Given the description of an element on the screen output the (x, y) to click on. 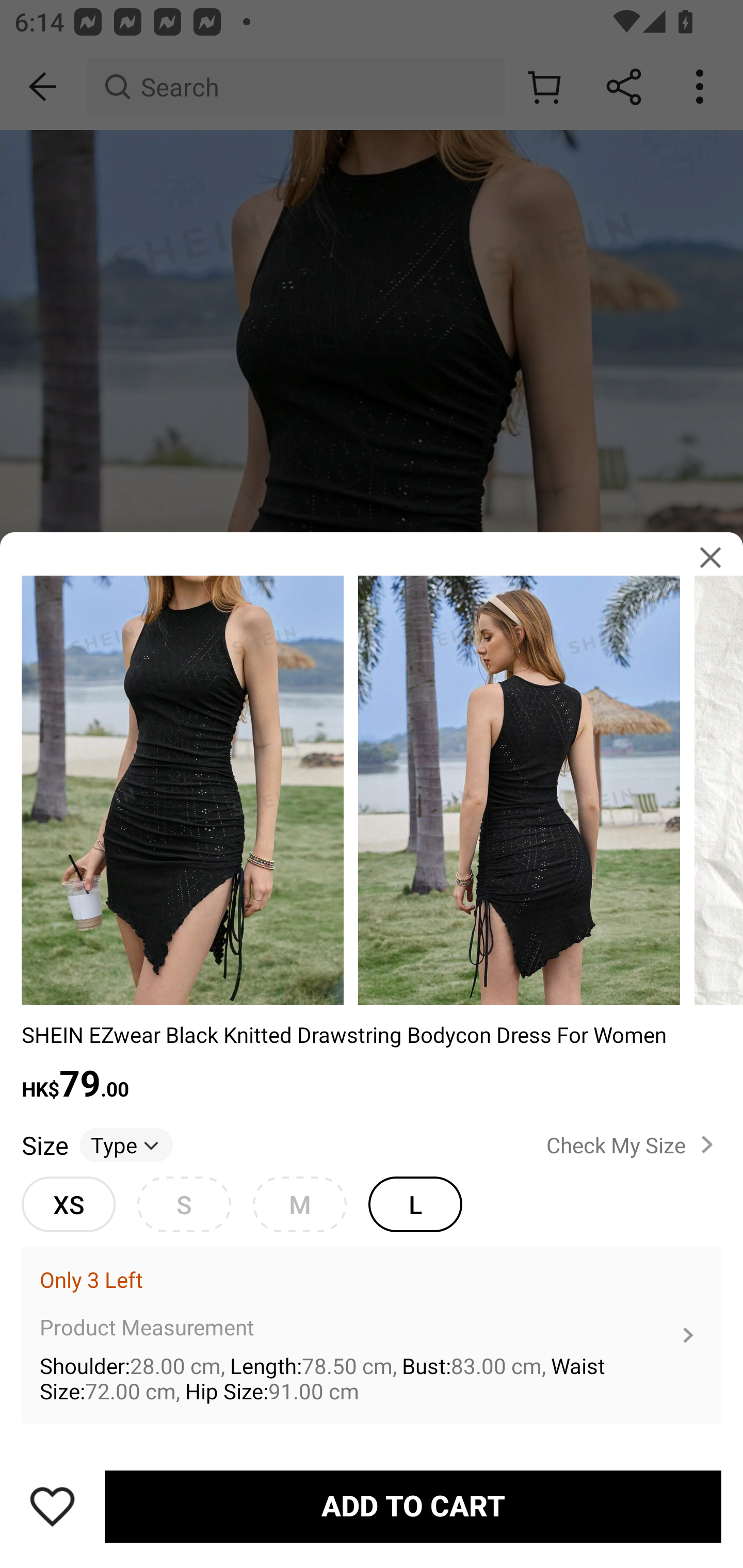
Size (44, 1144)
Type (126, 1144)
Check My Size (633, 1144)
XS XSunselected option (68, 1204)
S (184, 1204)
M (299, 1204)
L Lselected option (415, 1204)
ADD TO CART (412, 1506)
Save (52, 1505)
